Given the description of an element on the screen output the (x, y) to click on. 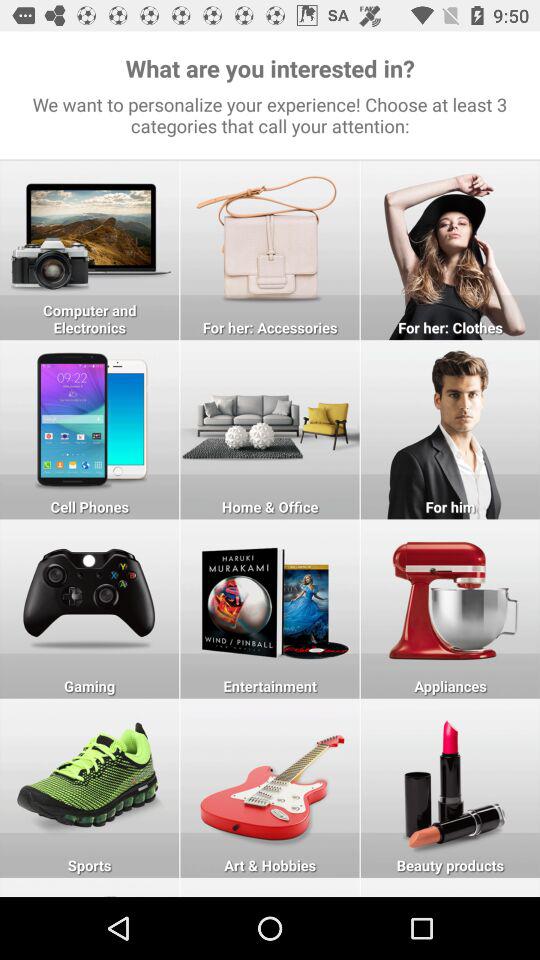
online marketing app (450, 608)
